Given the description of an element on the screen output the (x, y) to click on. 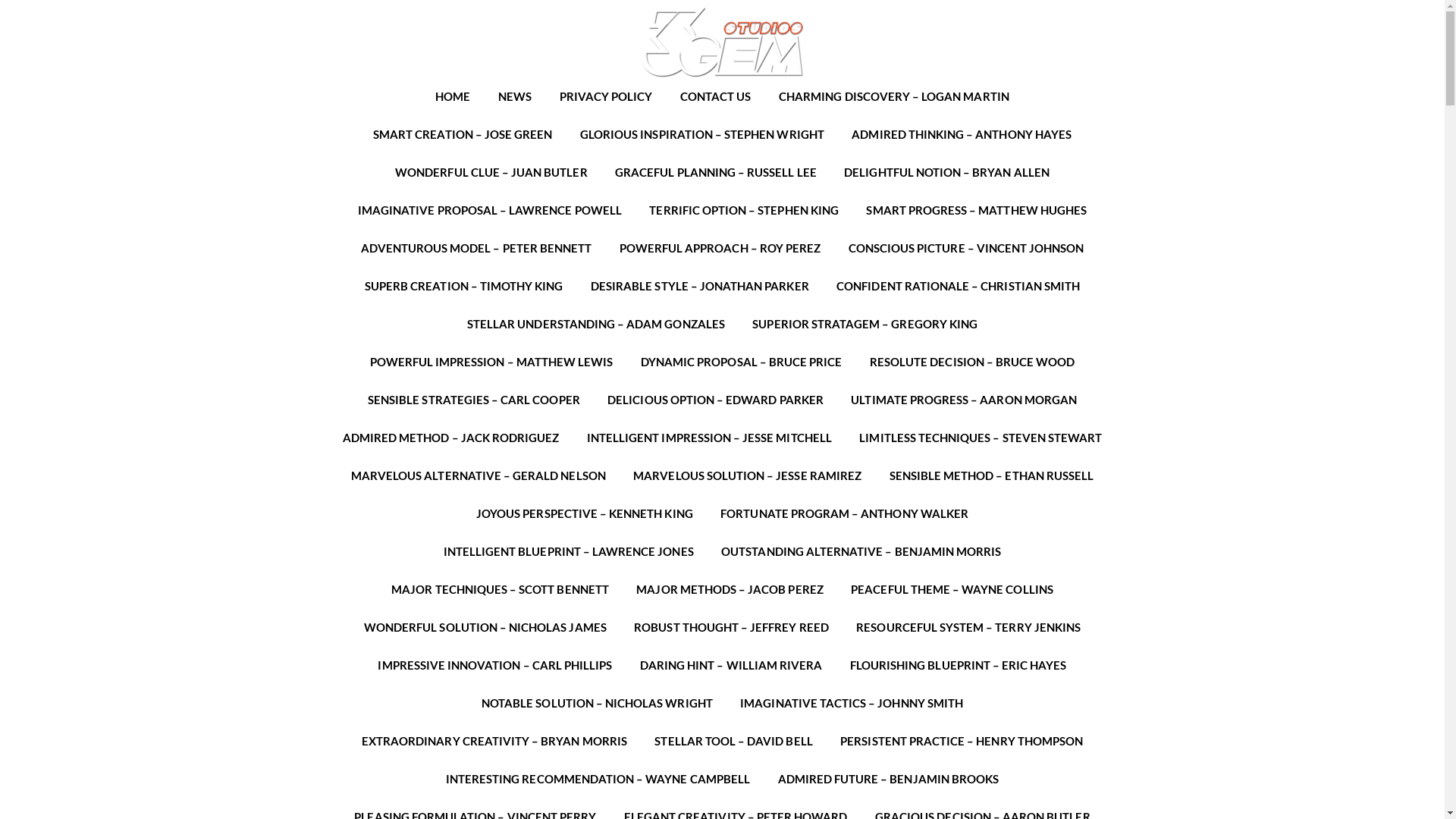
PRIVACY POLICY Element type: text (605, 96)
NEWS Element type: text (514, 96)
3 Gem Studio Element type: hover (722, 42)
CONTACT US Element type: text (715, 96)
HOME Element type: text (452, 96)
